Given the description of an element on the screen output the (x, y) to click on. 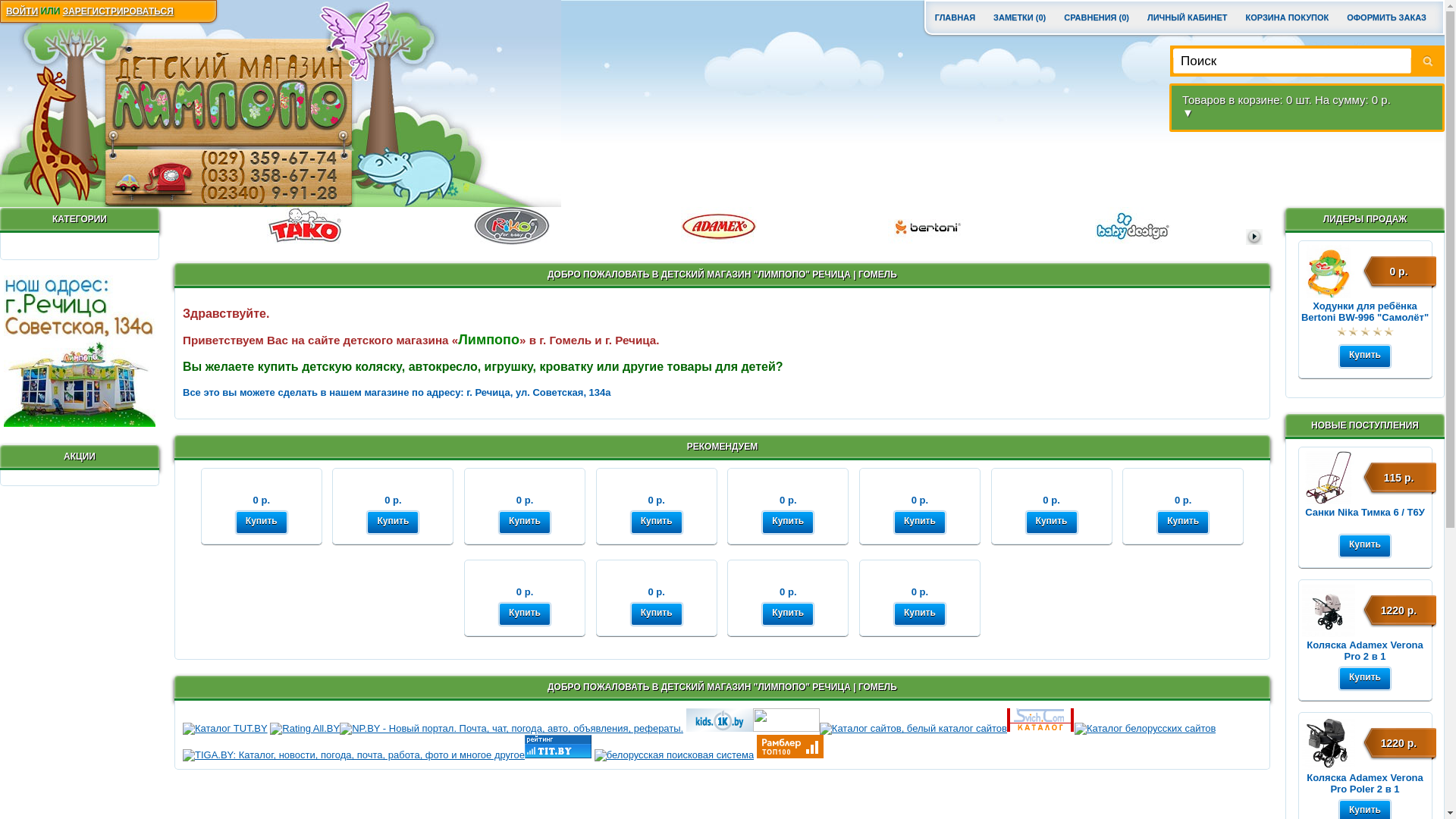
TAKO Element type: hover (304, 225)
Rambler's Top100 Element type: hover (789, 746)
ADAMEX Element type: hover (718, 225)
market Element type: hover (79, 350)
www.tit.by Element type: hover (557, 754)
RIKO Element type: hover (511, 225)
BABY DESIGN Element type: hover (1132, 225)
BERTONI Element type: hover (925, 225)
